Given the description of an element on the screen output the (x, y) to click on. 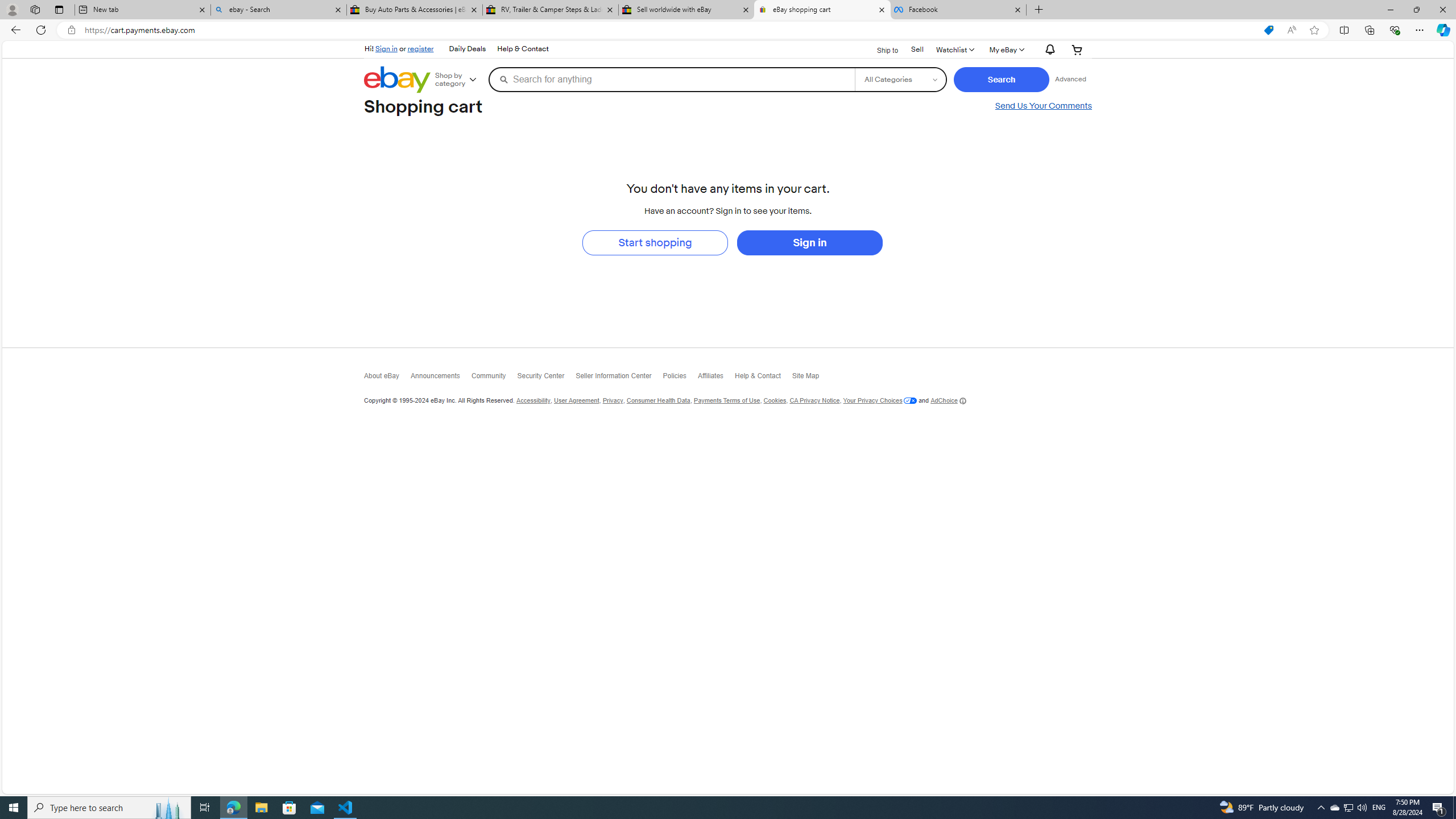
Shopping in Microsoft Edge (1268, 29)
About eBay (387, 377)
eBay Home (397, 79)
Security Center (546, 377)
Community (493, 377)
AutomationID: gh-eb-Alerts (1048, 49)
AdChoice (948, 400)
Cookies (774, 400)
Select a category for search (900, 78)
ebay - Search (277, 9)
User Agreement (576, 400)
